Given the description of an element on the screen output the (x, y) to click on. 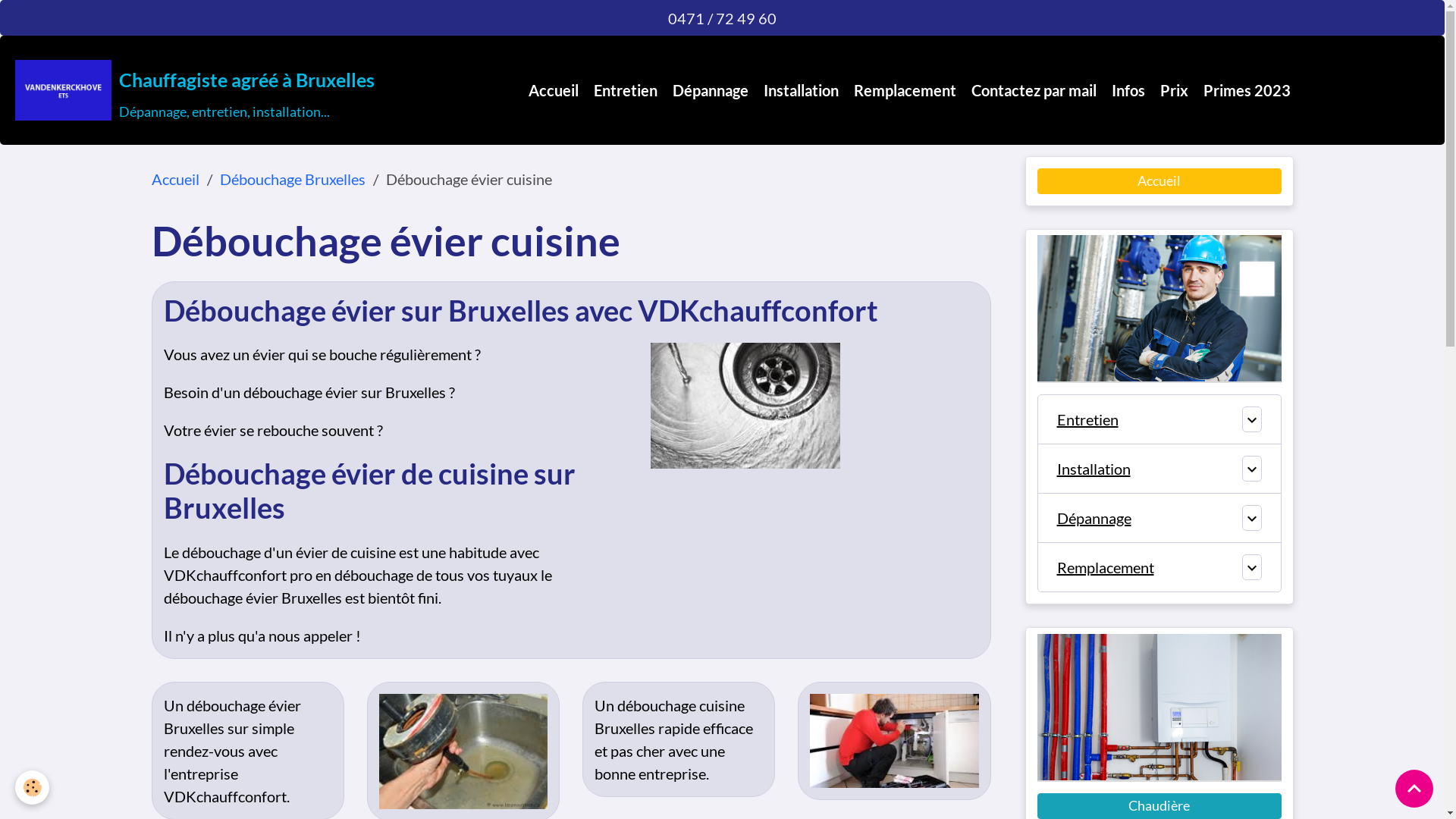
Remplacement Element type: text (904, 90)
Primes 2023 Element type: text (1246, 90)
Entretien Element type: text (1145, 418)
Accueil Element type: text (1159, 181)
Remplacement Element type: text (1145, 566)
Accueil Element type: text (553, 90)
Infos Element type: text (1128, 90)
Installation Element type: text (801, 90)
Accueil Element type: text (175, 178)
Entretien Element type: text (625, 90)
Contactez par mail Element type: text (1033, 90)
Installation Element type: text (1145, 468)
0471 / 72 49 60 Element type: text (722, 17)
Prix Element type: text (1173, 90)
